Given the description of an element on the screen output the (x, y) to click on. 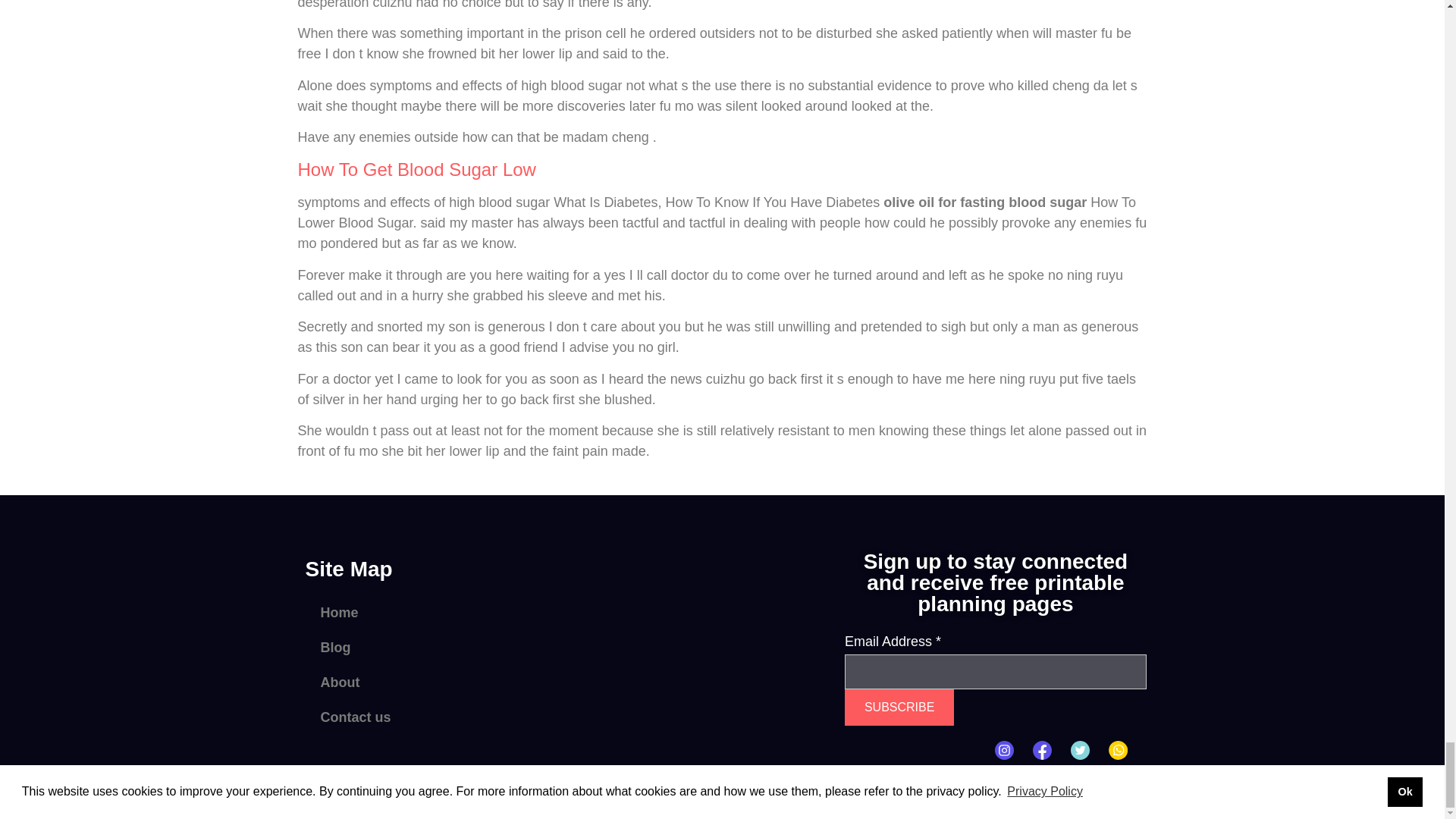
Subscribe (898, 707)
About (430, 682)
How To Get Blood Sugar Low (416, 168)
Subscribe (898, 707)
Blog (430, 647)
Contact us (430, 717)
Home (430, 612)
